Given the description of an element on the screen output the (x, y) to click on. 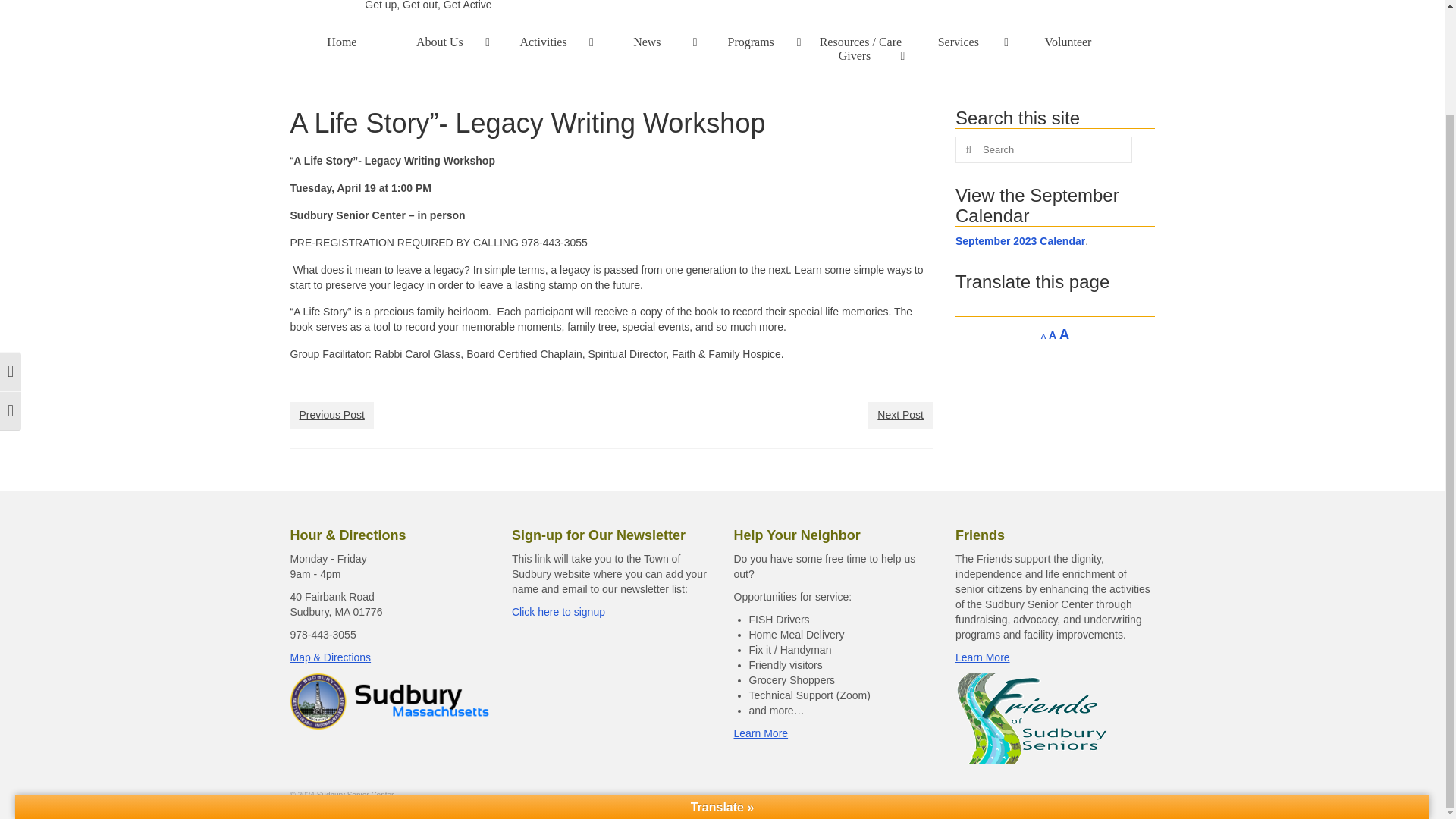
News (652, 41)
Activities (549, 41)
About Us (445, 41)
Programs (756, 41)
Home (341, 41)
